Given the description of an element on the screen output the (x, y) to click on. 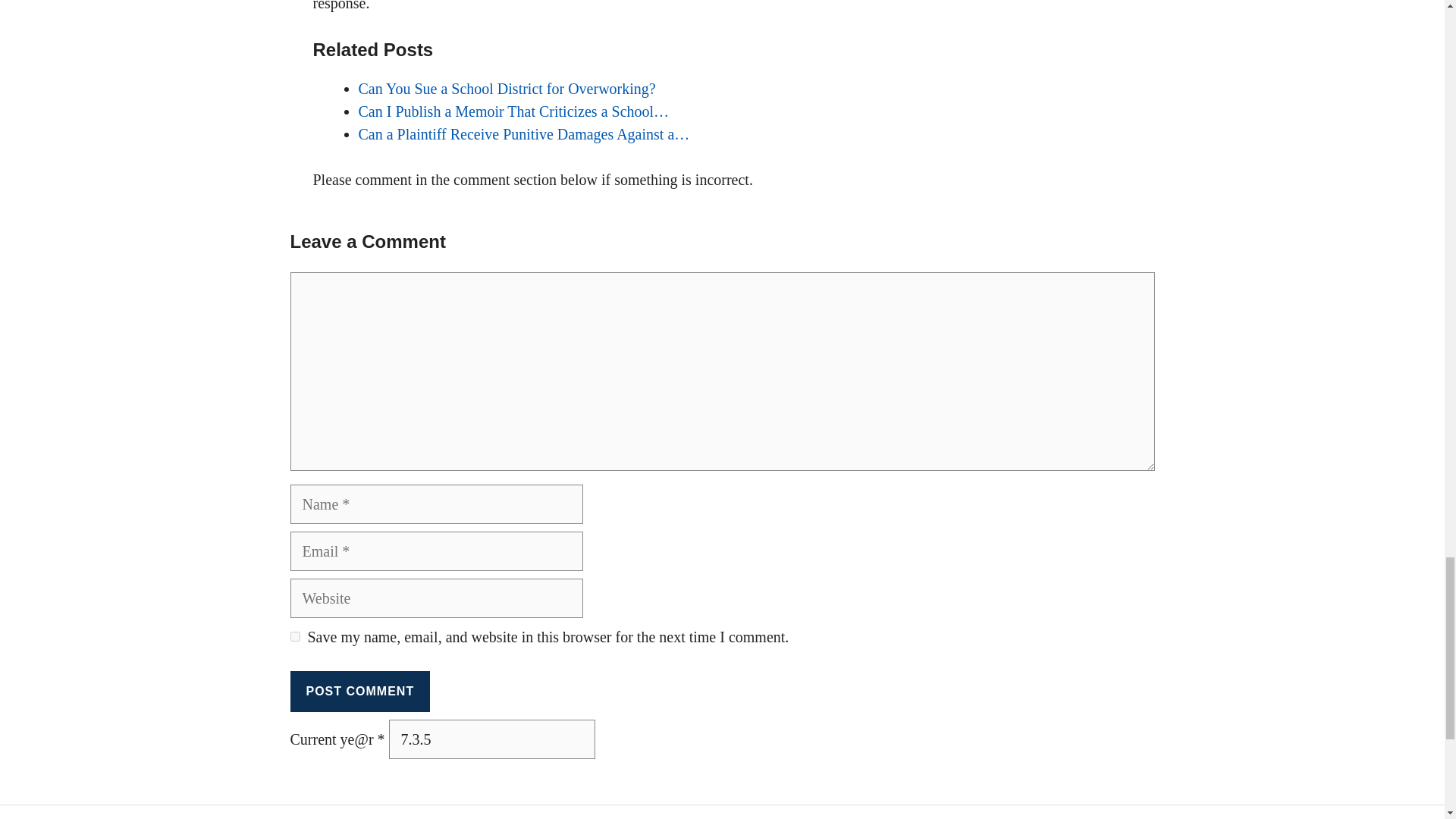
Post Comment (359, 690)
Post Comment (359, 690)
Can You Sue a School District for Overworking? (506, 88)
7.3.5 (491, 739)
yes (294, 636)
